Given the description of an element on the screen output the (x, y) to click on. 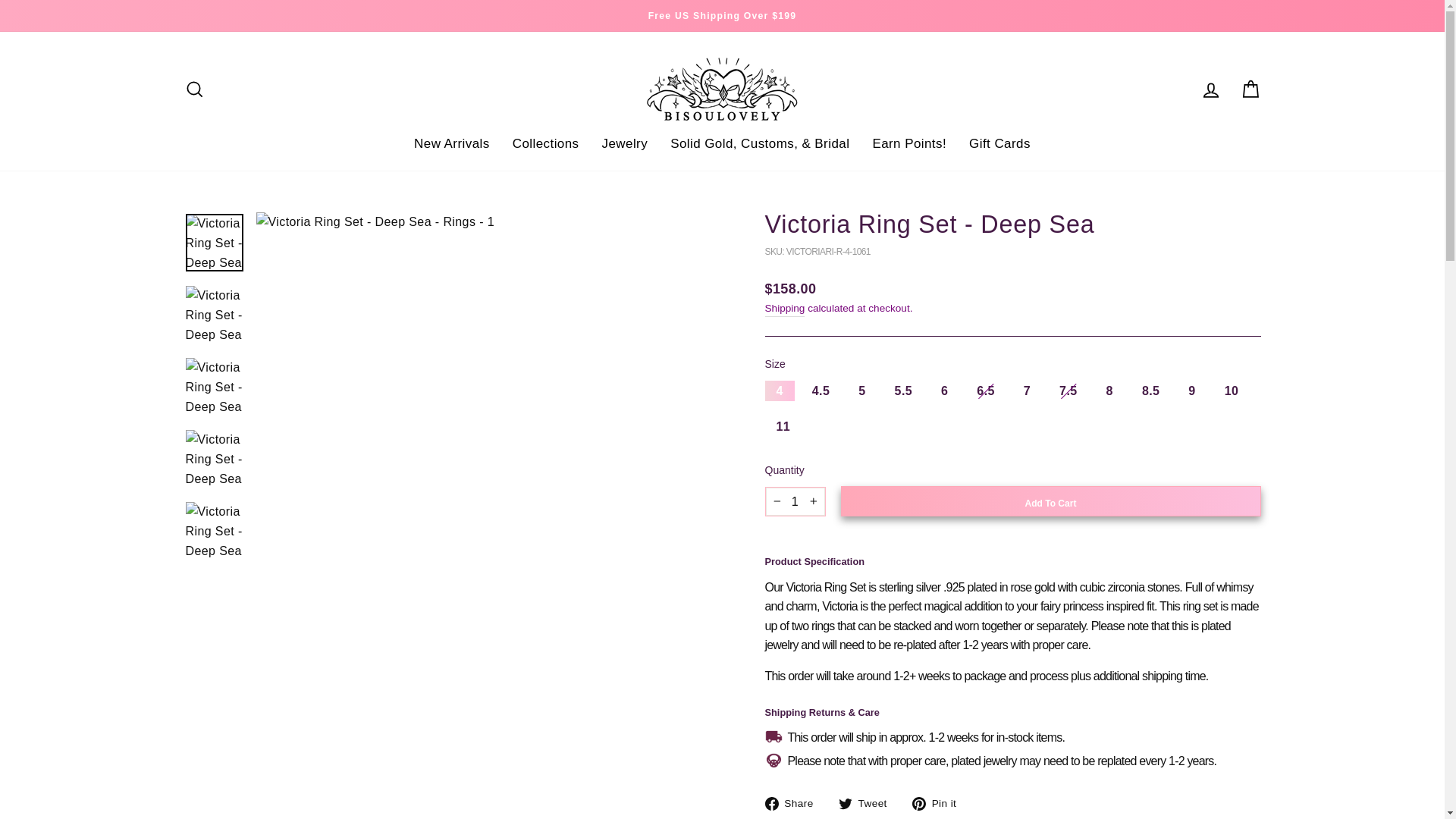
Tweet on Twitter (868, 803)
Share on Facebook (794, 803)
1 (795, 501)
Pin on Pinterest (940, 803)
